Given the description of an element on the screen output the (x, y) to click on. 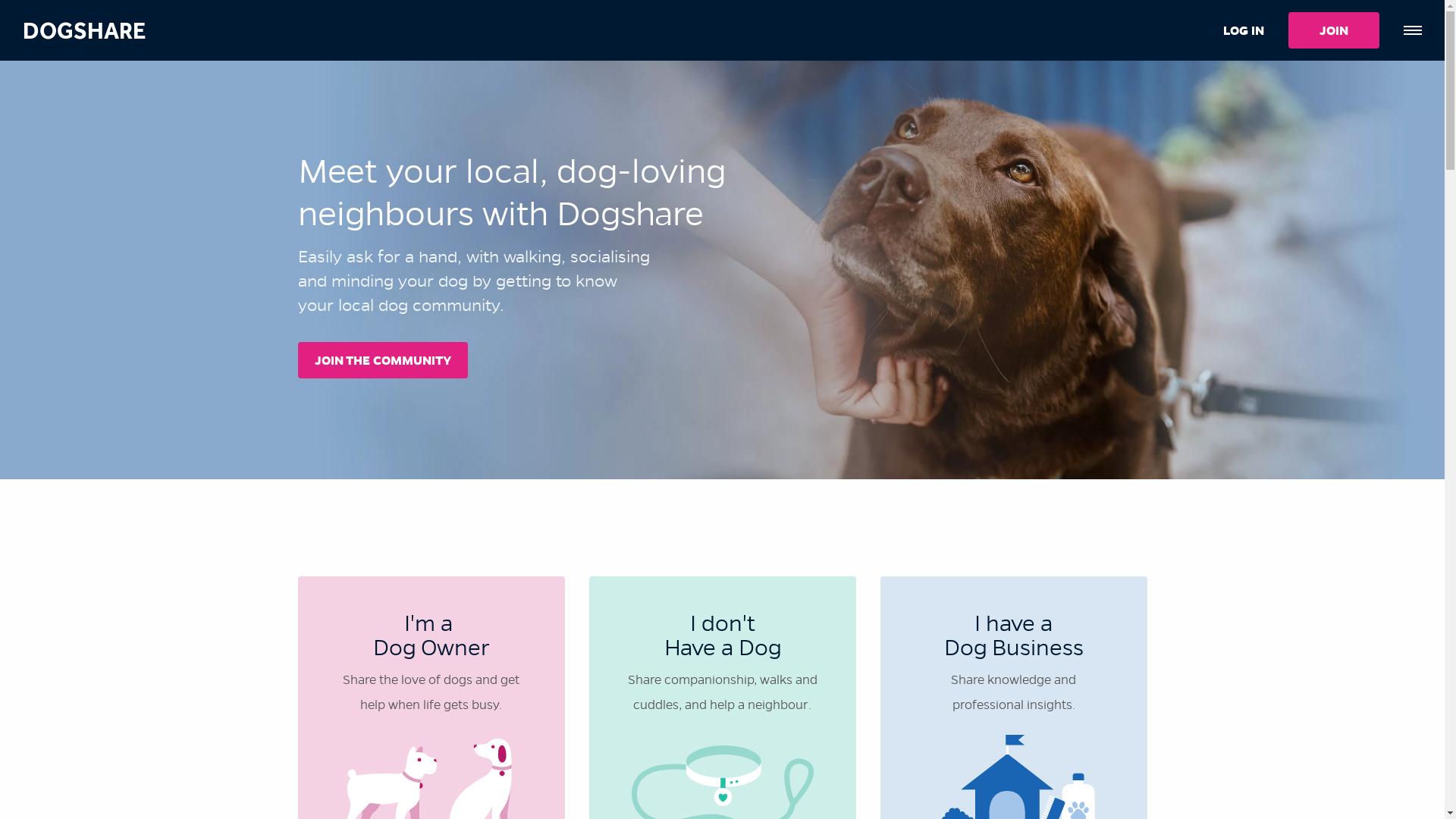
LOG IN Element type: text (1243, 30)
DOGSHARE Element type: text (83, 30)
JOIN THE COMMUNITY Element type: text (382, 360)
JOIN Element type: text (1333, 30)
